Given the description of an element on the screen output the (x, y) to click on. 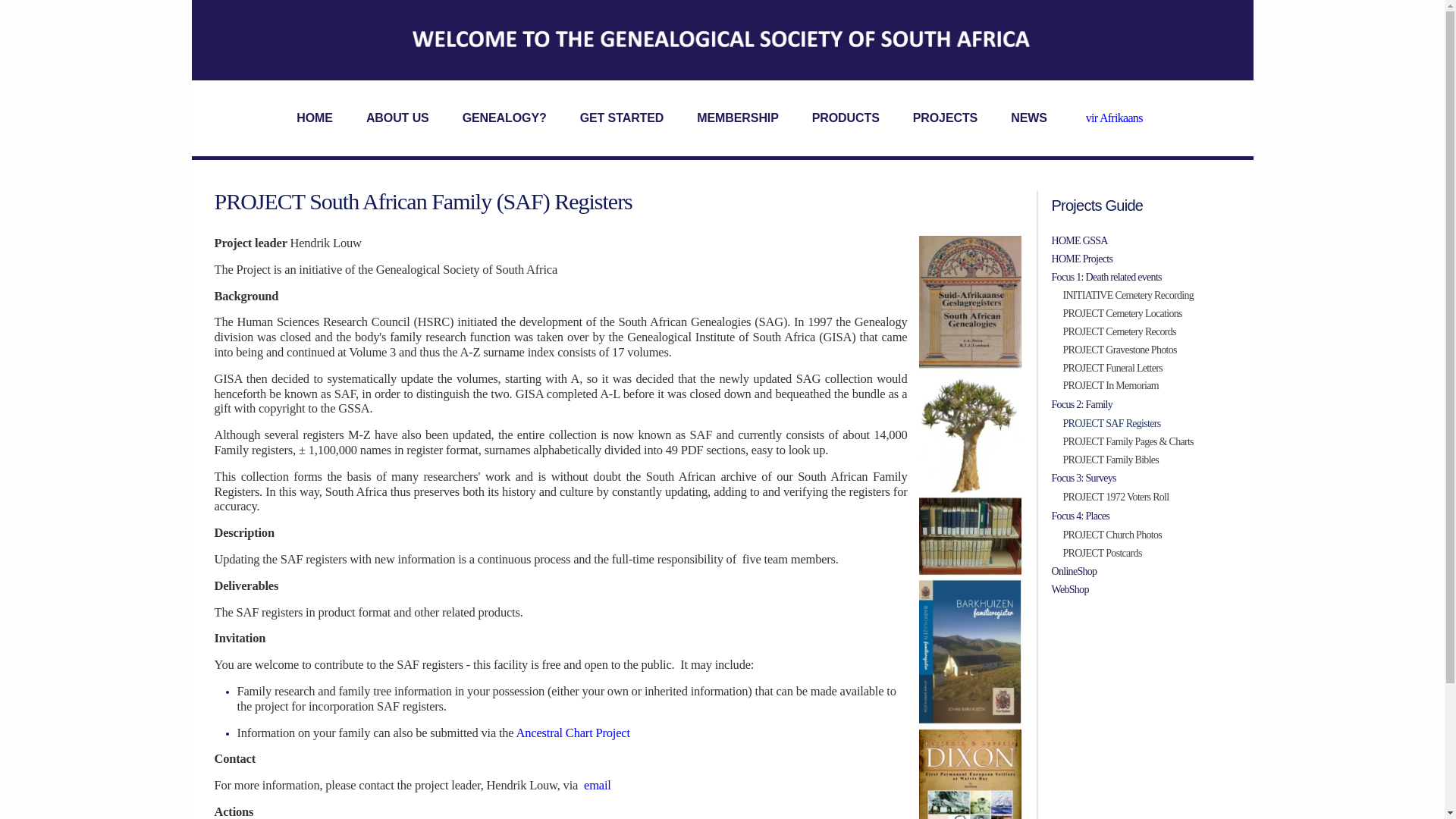
PRODUCTS (845, 118)
PROJECT Gravestone Photos (1146, 350)
PROJECT Cemetery Locations (1146, 313)
email (597, 785)
GENEALOGY? (505, 118)
MEMBERSHIP (737, 118)
Focus 2: Family (1140, 404)
Vist the Ancestral Chart Project (573, 732)
Focus 1: Death related events (1140, 277)
HOME GSSA (1140, 240)
PROJECT In Memoriam (1146, 385)
PROJECT Family Bibles (1146, 460)
HOME Projects (1140, 259)
PROJECT Funeral Letters (1146, 368)
PROJECTS (944, 118)
